Given the description of an element on the screen output the (x, y) to click on. 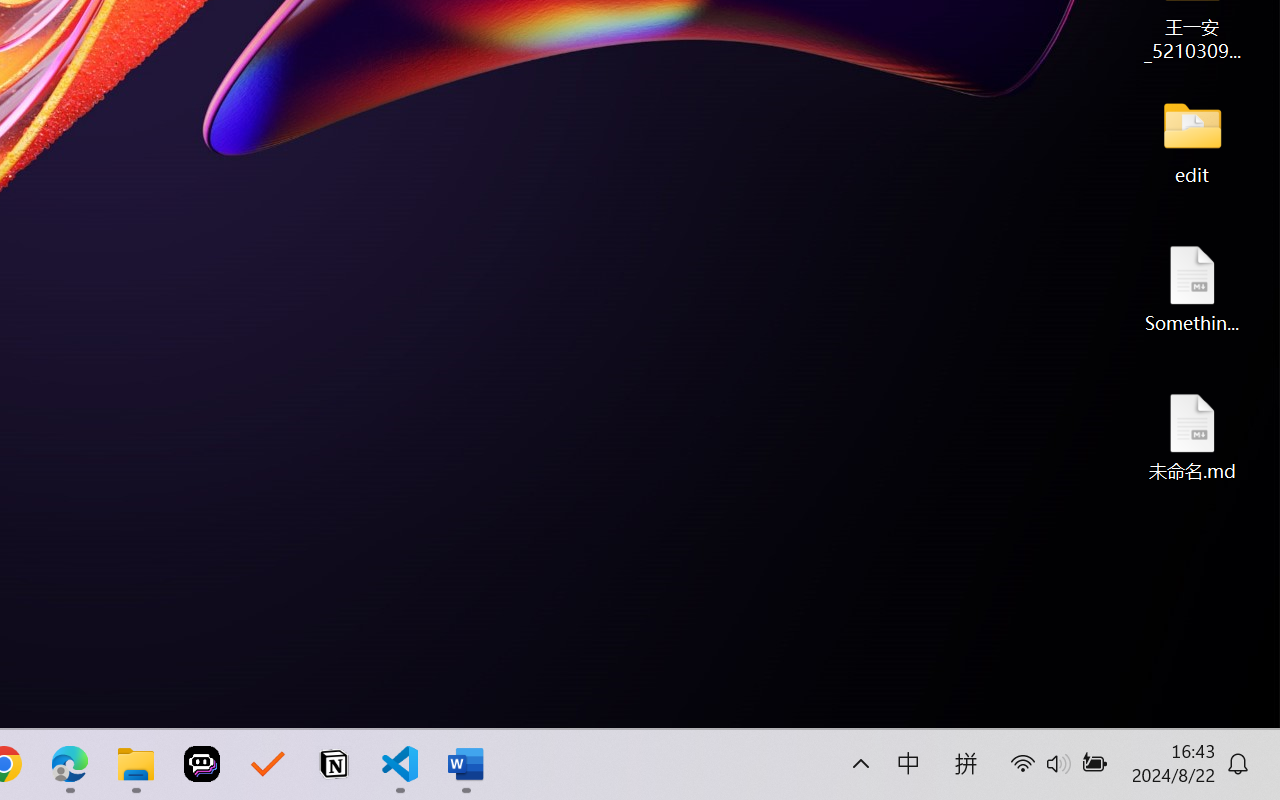
edit (1192, 140)
Something.md (1192, 288)
